Given the description of an element on the screen output the (x, y) to click on. 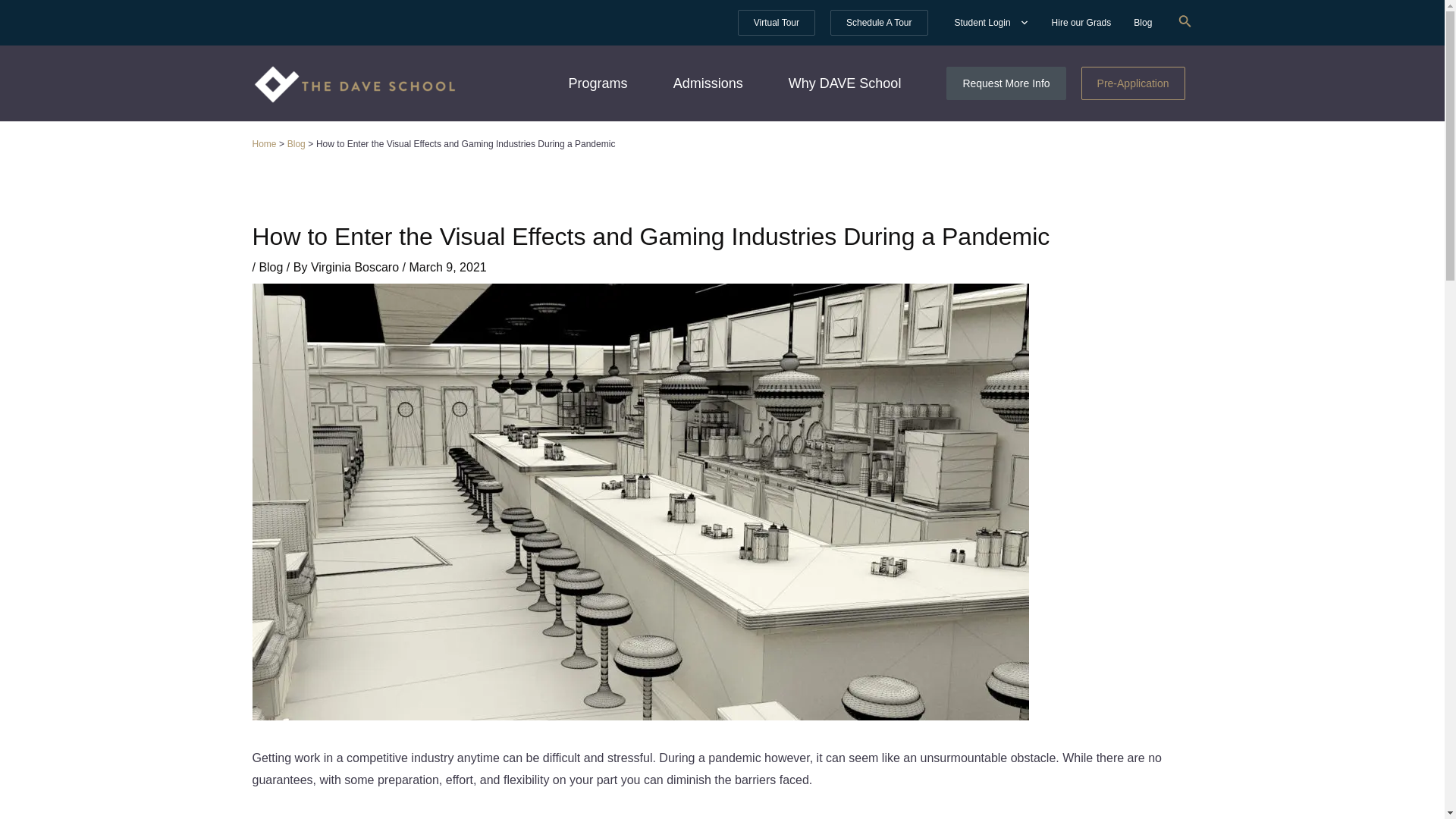
Blog (1142, 22)
Admissions (707, 83)
Virtual Tour (776, 22)
Hire our Grads (1081, 22)
View all posts by Virginia Boscaro (357, 267)
Schedule A Tour (878, 22)
Programs (598, 83)
Why DAVE School (844, 83)
Student Login (992, 22)
